Given the description of an element on the screen output the (x, y) to click on. 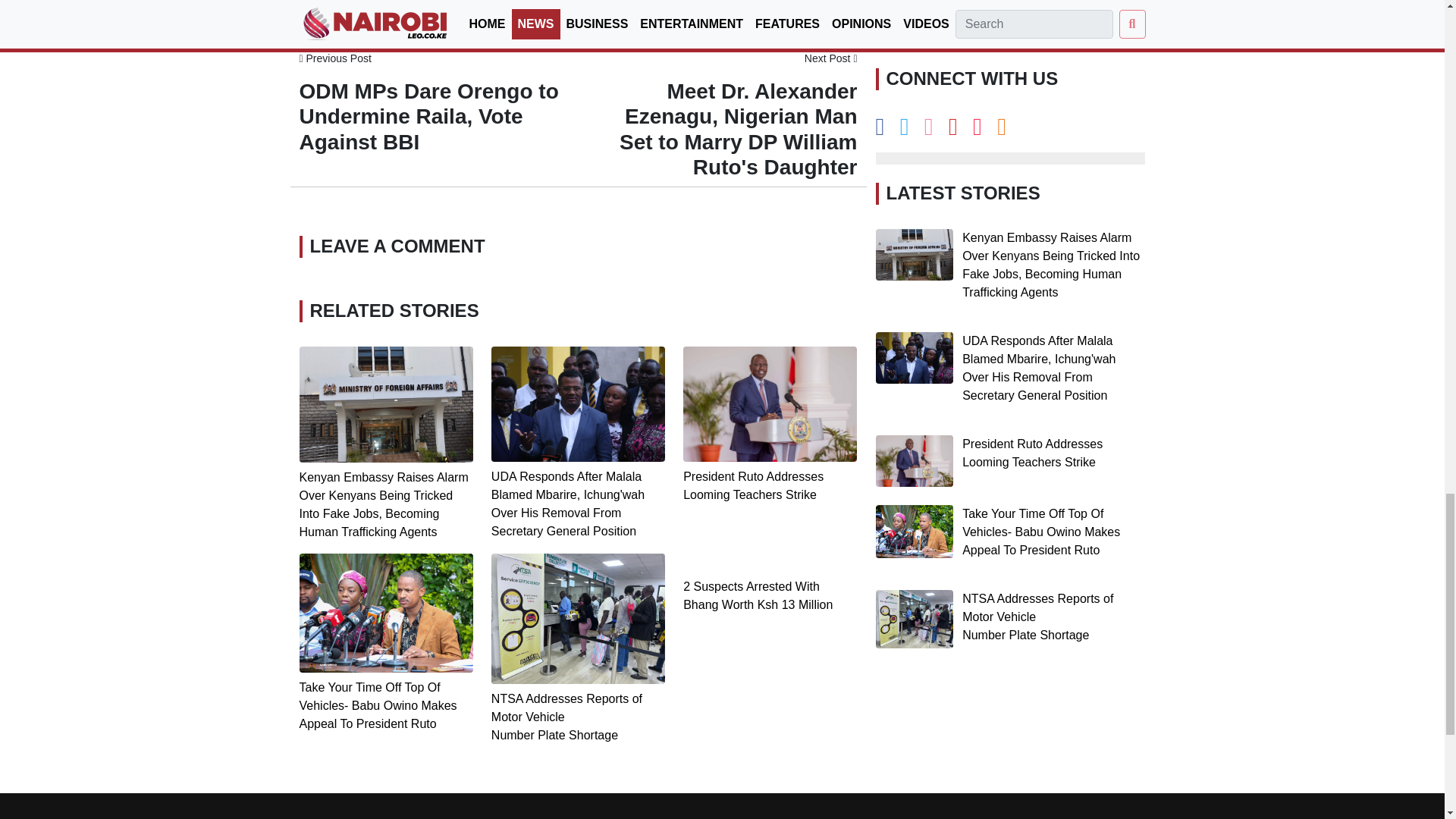
Topic: Odibets (332, 8)
ODM MPs Dare Orengo to Undermine Raila, Vote Against BBI (334, 58)
Next Post (831, 58)
ODM MPs Dare Orengo to Undermine Raila, Vote Against BBI (427, 116)
